Given the description of an element on the screen output the (x, y) to click on. 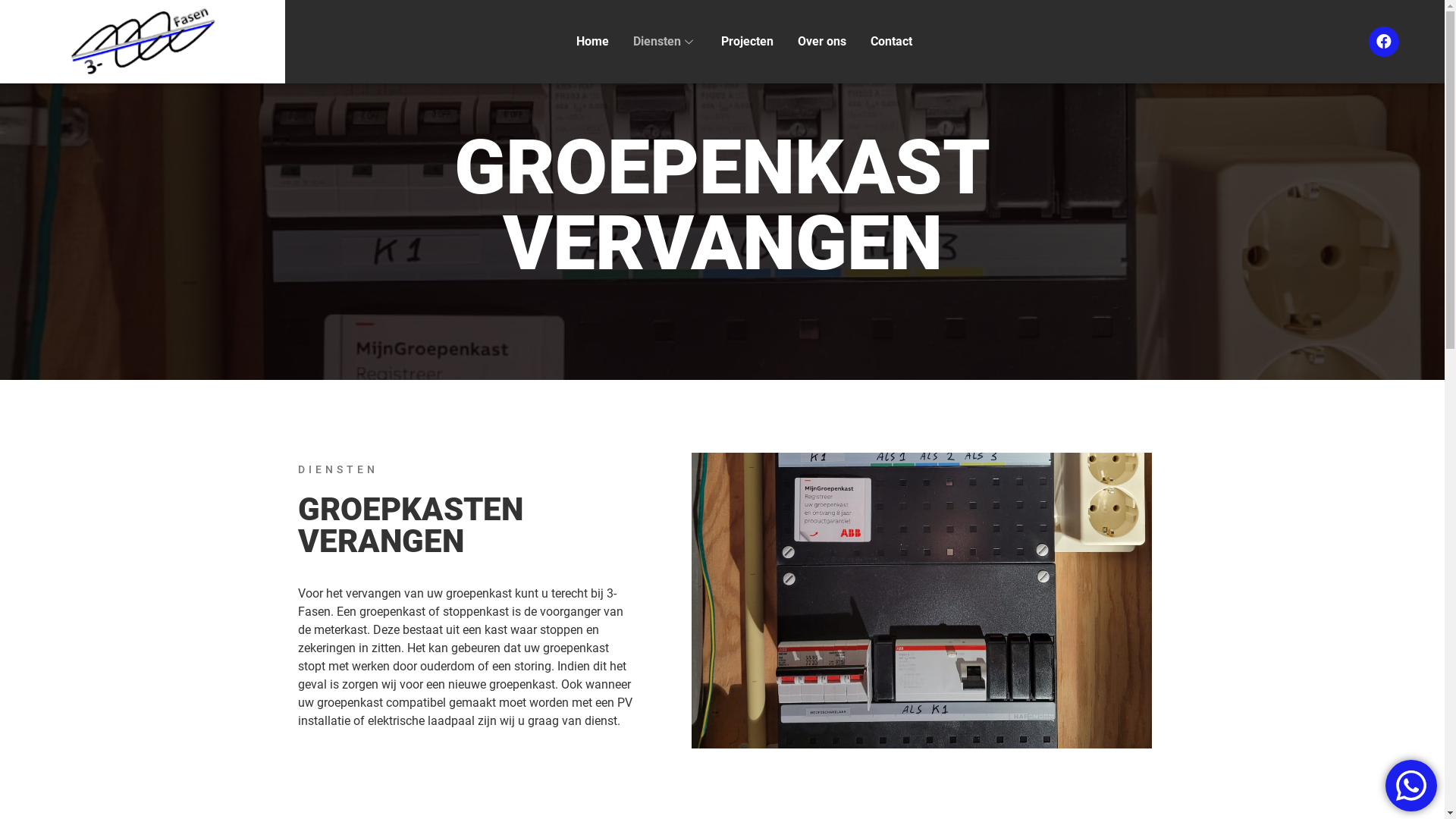
Over ons Element type: text (821, 41)
Home Element type: text (592, 41)
Projecten Element type: text (747, 41)
Diensten Element type: text (665, 41)
Contact Element type: text (891, 41)
